Given the description of an element on the screen output the (x, y) to click on. 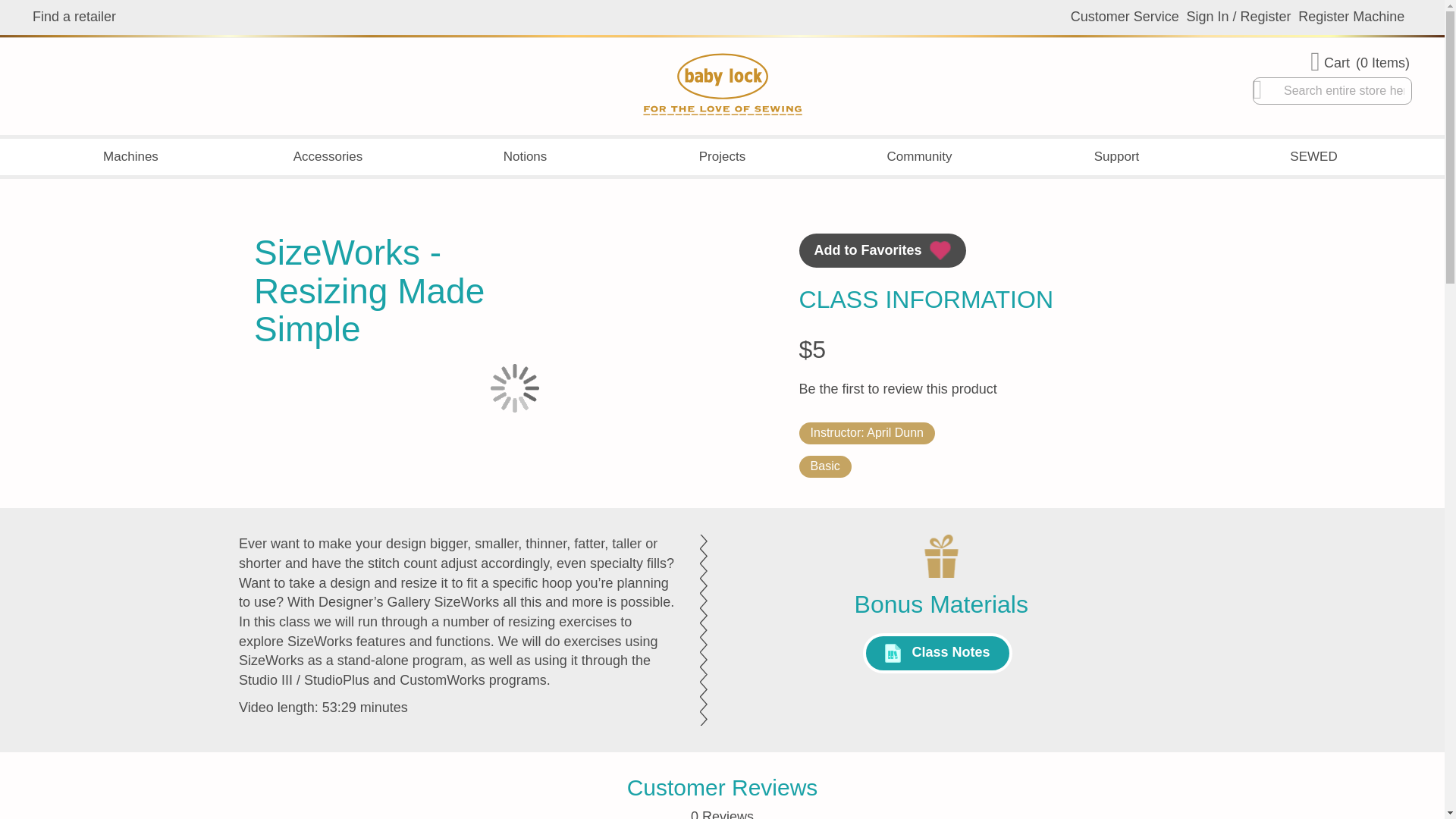
Machines (130, 156)
Find a retailer (74, 16)
Add to Favorites (882, 250)
Accessories (327, 156)
Notions (524, 156)
Cart (1361, 62)
Customer Service (1124, 16)
Register Machine (1351, 16)
